Given the description of an element on the screen output the (x, y) to click on. 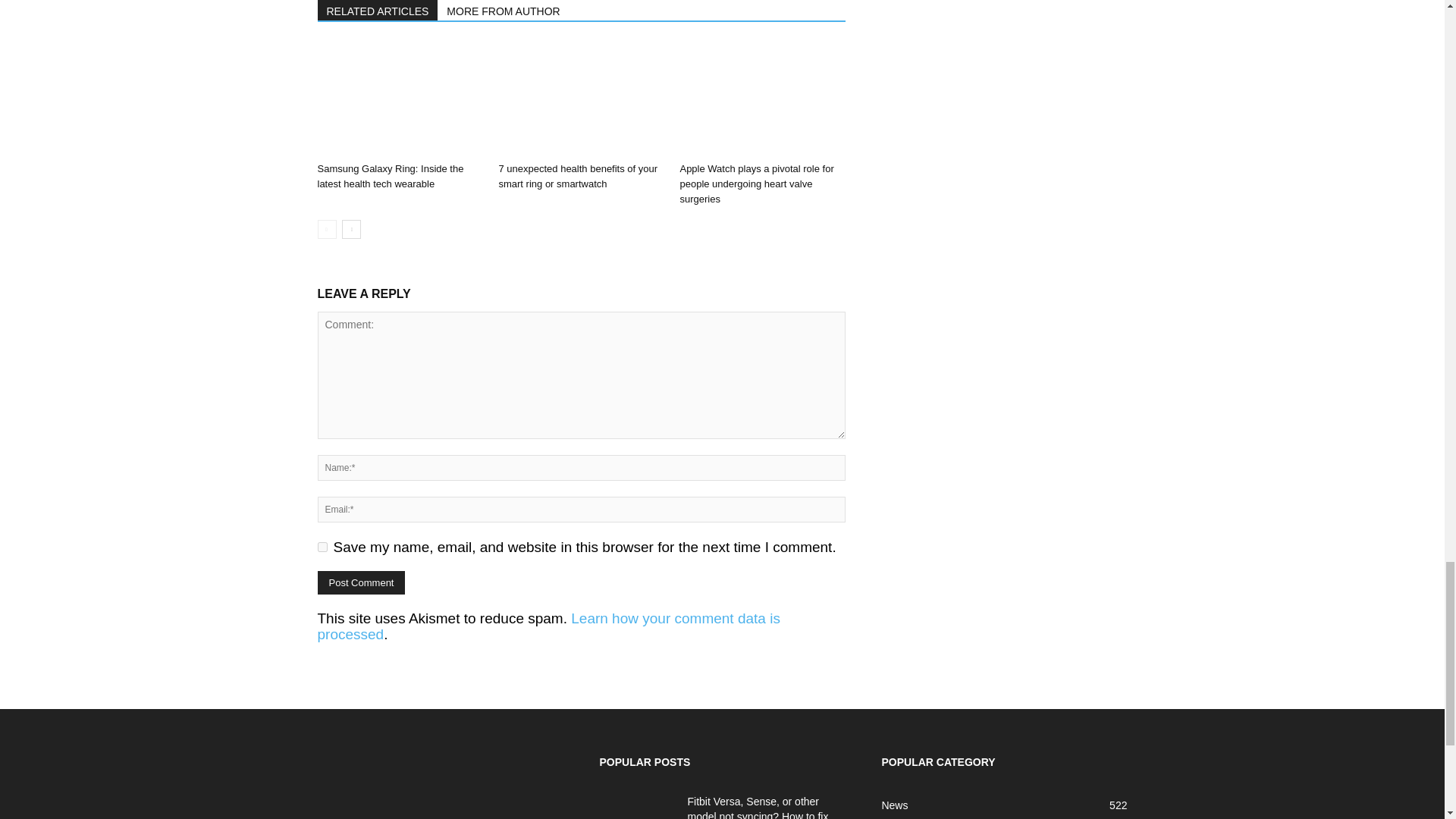
Samsung Galaxy Ring: Inside the latest health tech wearable (399, 99)
Samsung Galaxy Ring: Inside the latest health tech wearable (390, 175)
yes (321, 547)
Post Comment (360, 582)
